Given the description of an element on the screen output the (x, y) to click on. 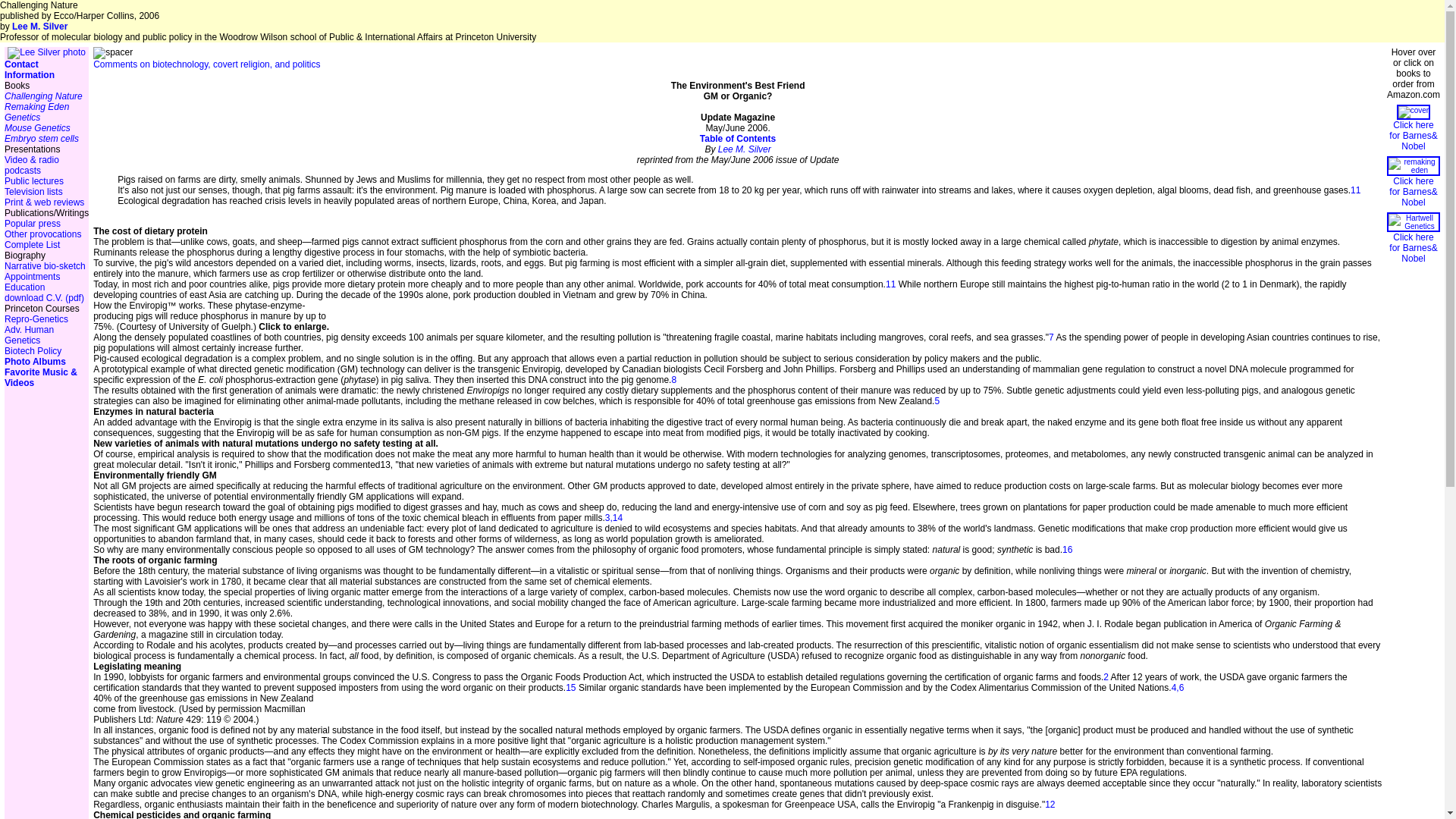
Education (24, 286)
Biotech Policy (32, 350)
Popular press (32, 223)
Adv. Human Genetics (28, 334)
Narrative bio-sketch (44, 266)
Public lectures (34, 181)
Other provocations (42, 234)
11 (890, 284)
Challenging Nature (43, 95)
11 (1355, 190)
